Given the description of an element on the screen output the (x, y) to click on. 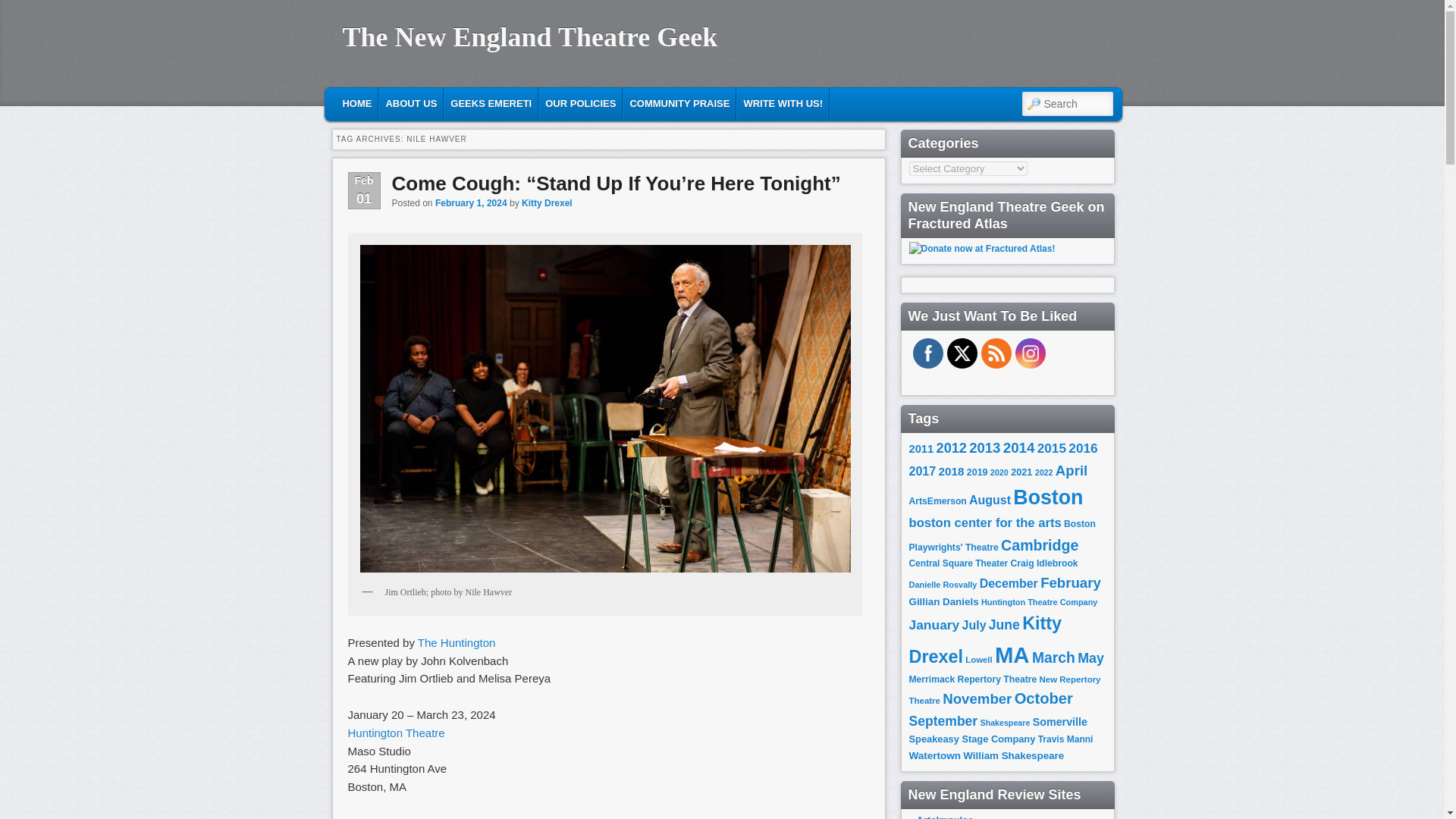
3:58 pm (470, 203)
Kitty Drexel (546, 203)
GEEKS EMERETI (490, 103)
Huntington Theatre (395, 732)
View all posts by Kitty Drexel (546, 203)
HOME (356, 103)
SKIP TO SECONDARY CONTENT (432, 102)
SKIP TO PRIMARY CONTENT (421, 102)
COMMUNITY PRAISE (679, 103)
February 1, 2024 (470, 203)
WRITE WITH US! (782, 103)
The New England Theatre Geek (529, 37)
Skip to primary content (421, 102)
The Huntington  (458, 642)
ABOUT US (410, 103)
